Given the description of an element on the screen output the (x, y) to click on. 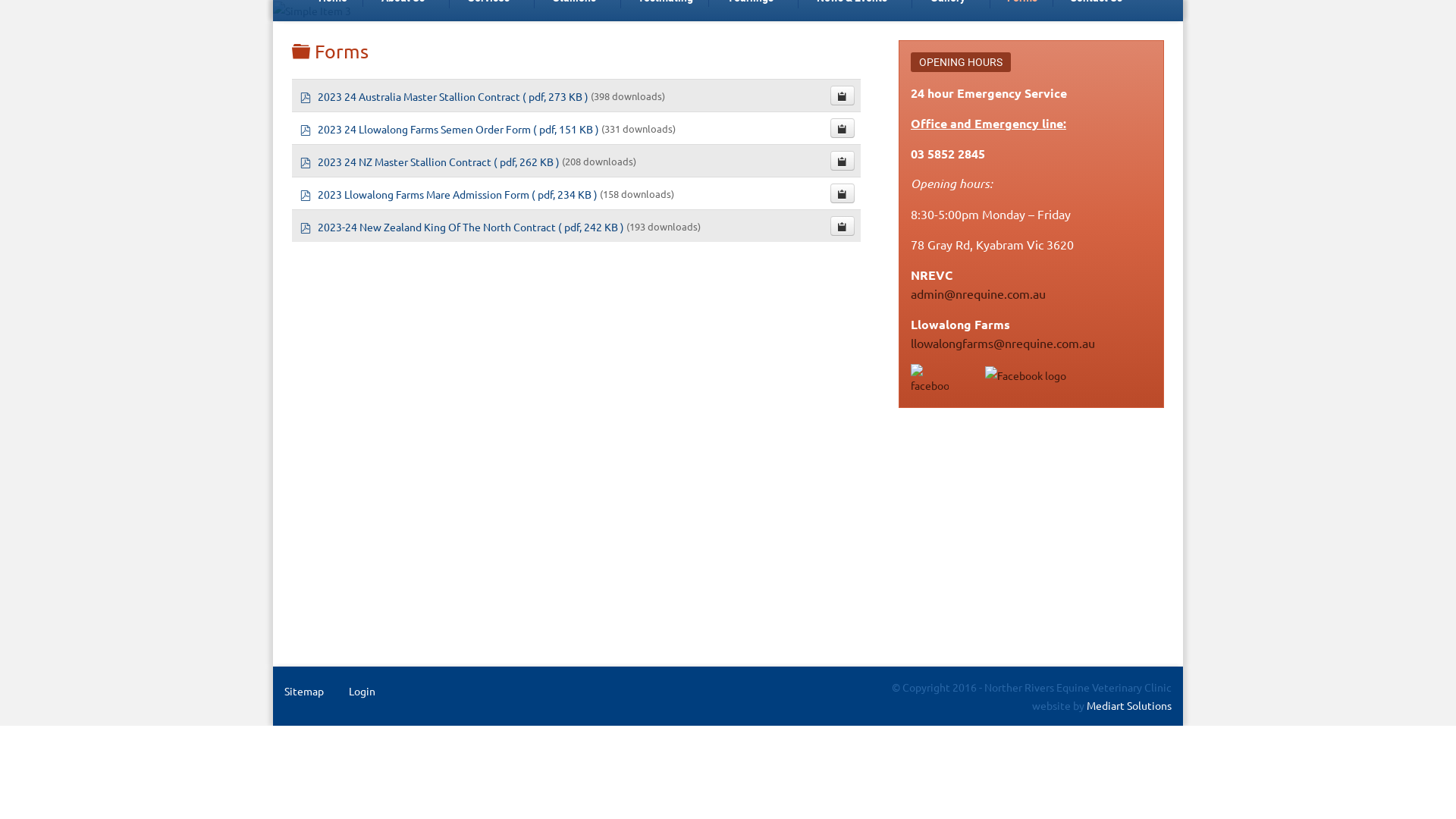
Sitemap Element type: text (304, 690)
pdf
2023 24 NZ Master Stallion Contract ( pdf, 262 KB ) Element type: text (430, 159)
pdf
2023 24 Llowalong Farms Semen Order Form ( pdf, 151 KB ) Element type: text (450, 127)
llowalongfarms@nrequine.com.au Element type: text (1002, 342)
Mediart Solutions Element type: text (1127, 705)
Login Element type: text (361, 690)
pdf
2023 Llowalong Farms Mare Admission Form ( pdf, 234 KB ) Element type: text (449, 192)
admin@nrequine.com.au Element type: text (977, 293)
